Given the description of an element on the screen output the (x, y) to click on. 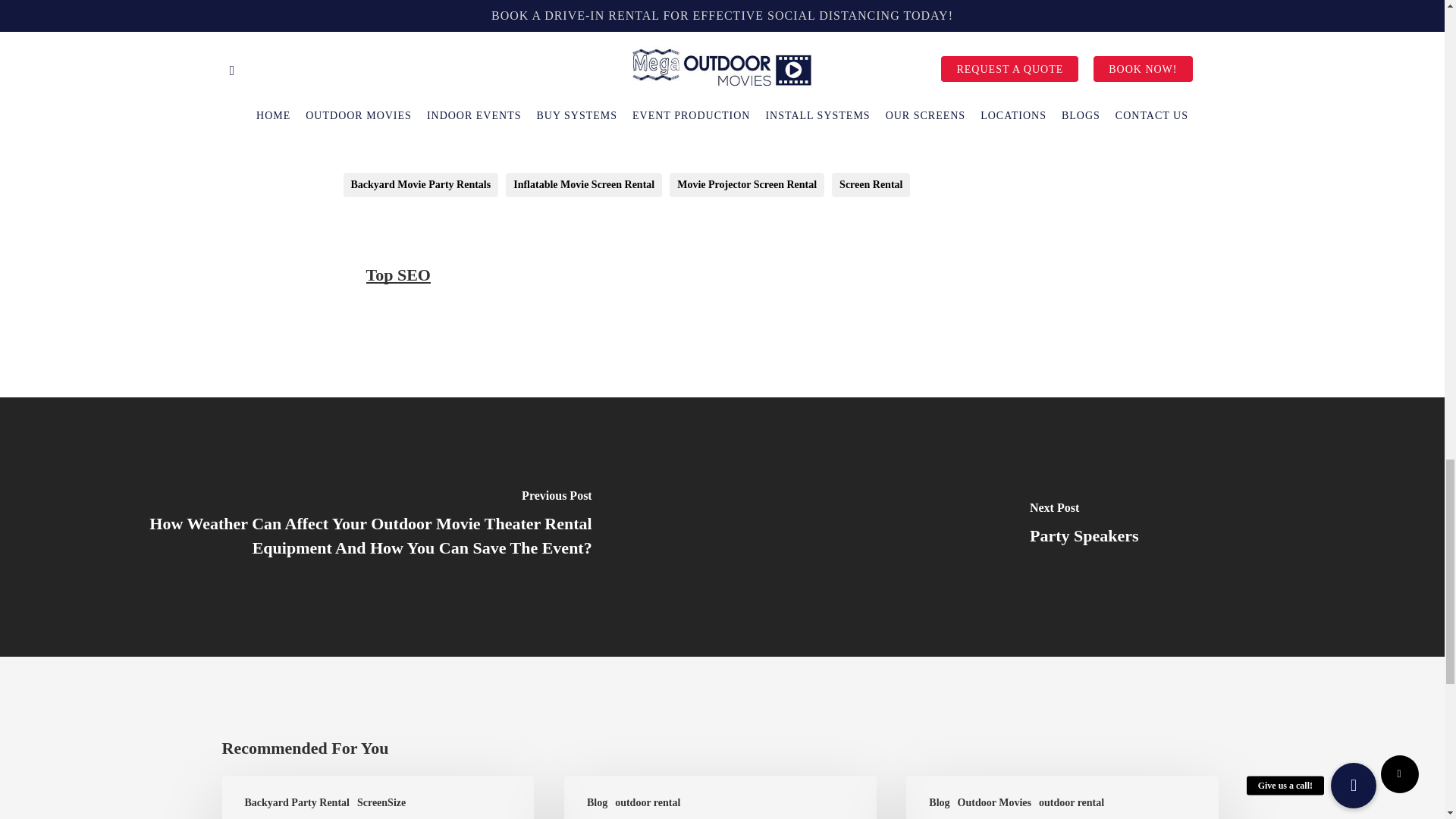
Inflatable Movie Screen Rental (583, 184)
Backyard Movie Party Rentals (419, 184)
